Given the description of an element on the screen output the (x, y) to click on. 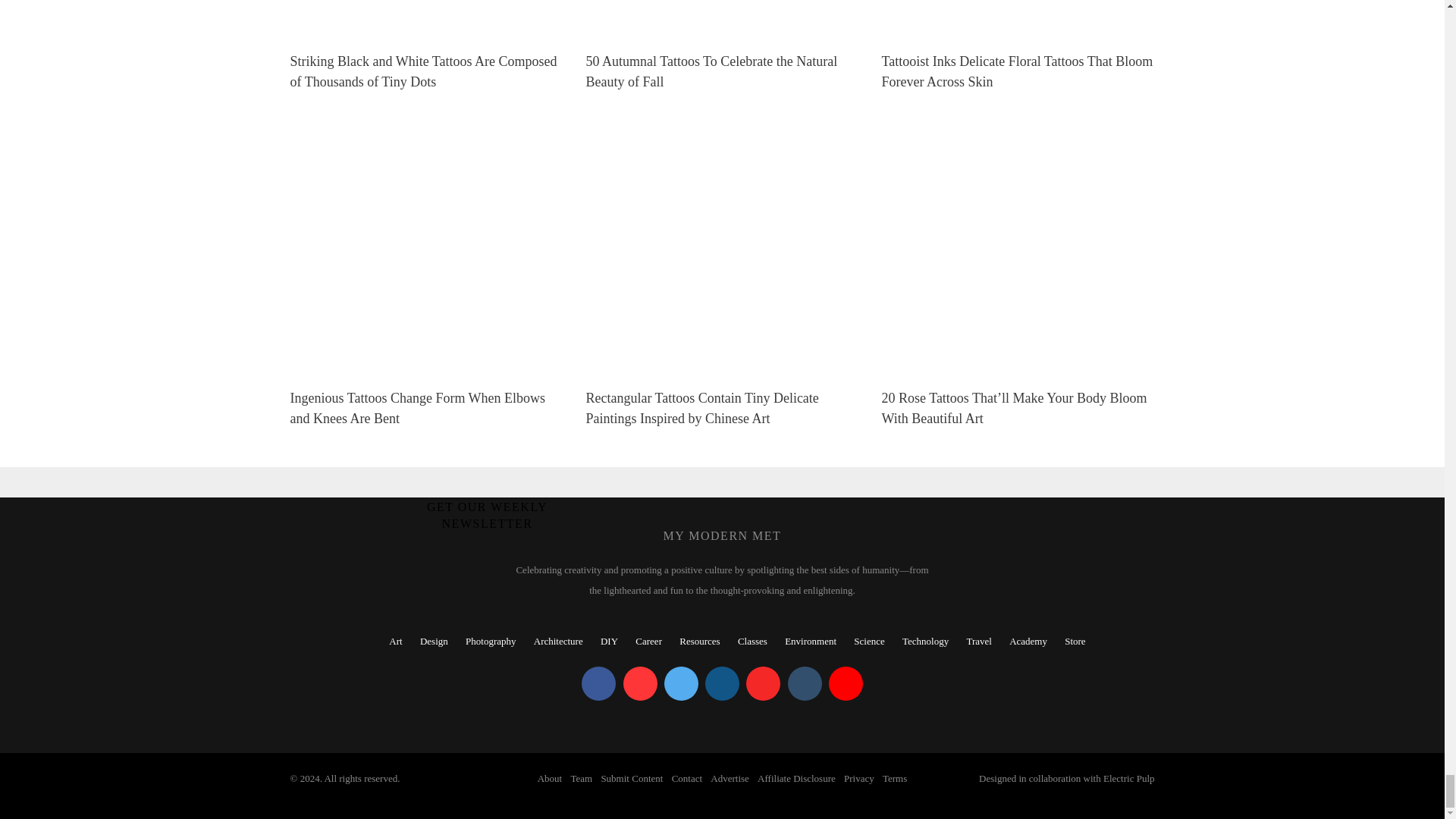
My Modern Met on YouTube (845, 683)
My Modern Met on Facebook (597, 683)
My Modern Met on Pinterest (640, 683)
My Modern Met on Instagram (721, 683)
My Modern Met on Twitter (680, 683)
My Modern Met on Tumblr (804, 683)
